Given the description of an element on the screen output the (x, y) to click on. 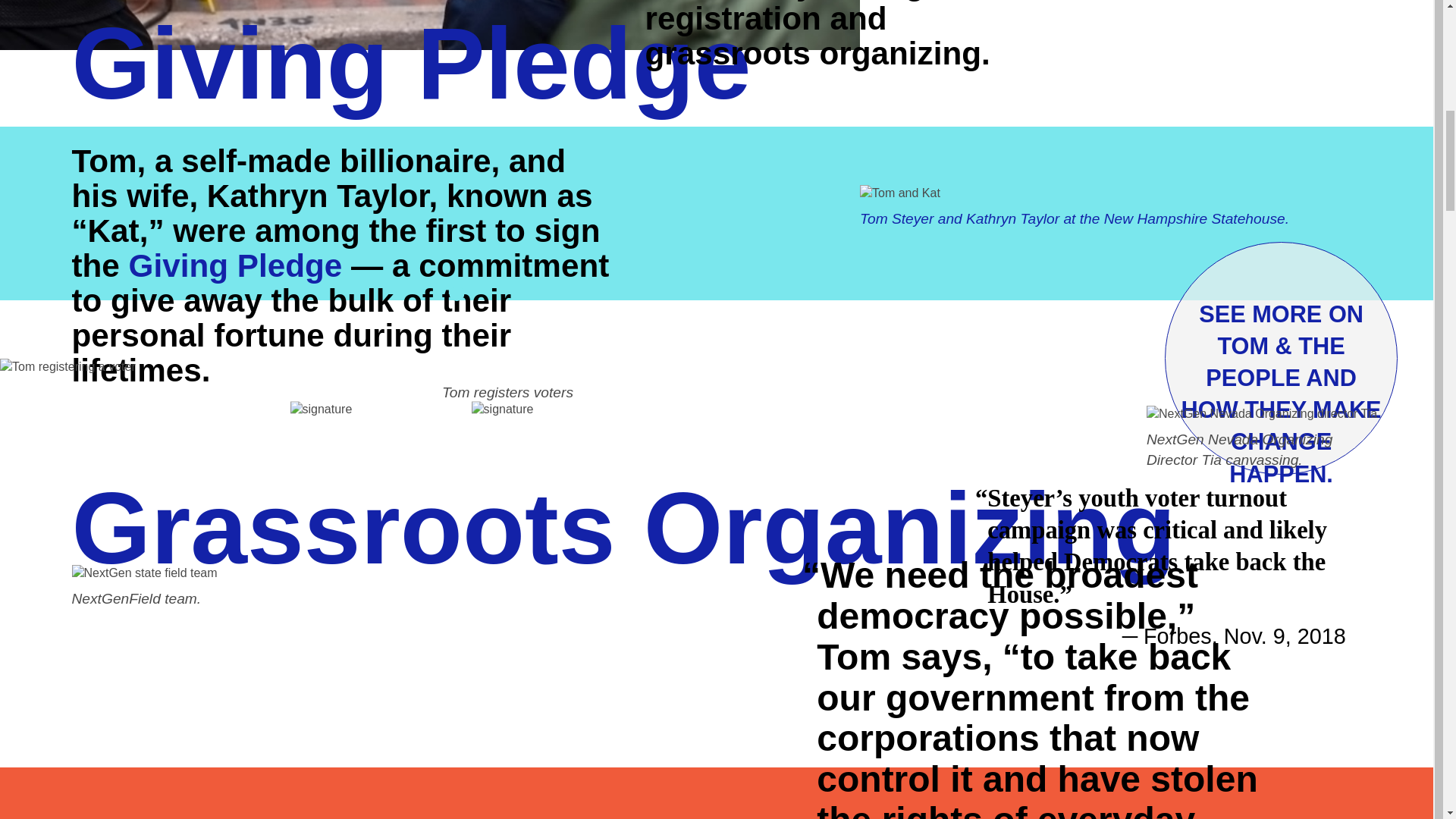
Giving Pledge (235, 266)
